Given the description of an element on the screen output the (x, y) to click on. 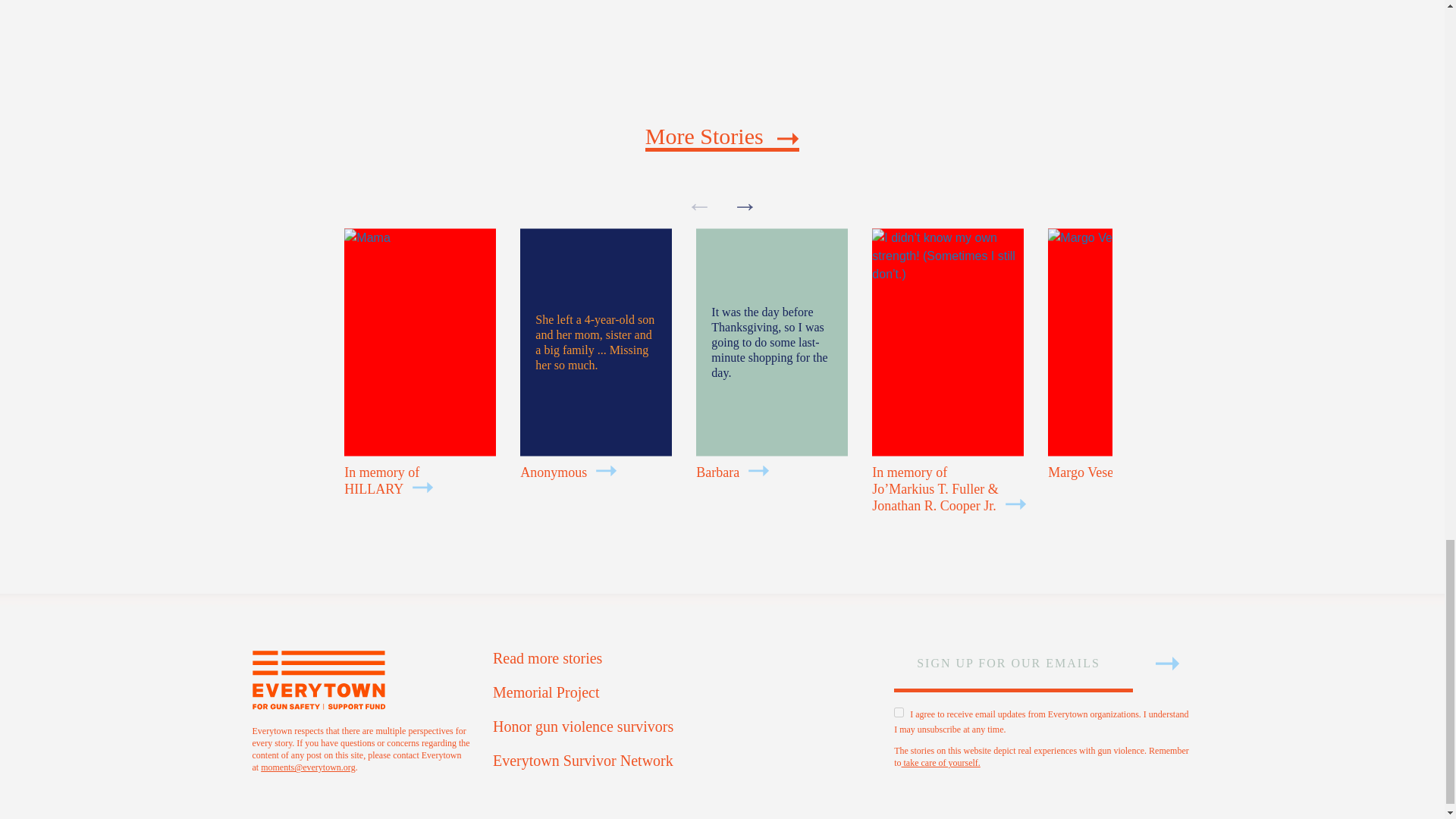
Everytown Survivor Network (681, 760)
Next (744, 205)
on (898, 712)
More Stories (722, 138)
Honor gun violence survivors (681, 726)
Read more stories (681, 657)
Previous (699, 205)
Memorial Project (681, 692)
